Given the description of an element on the screen output the (x, y) to click on. 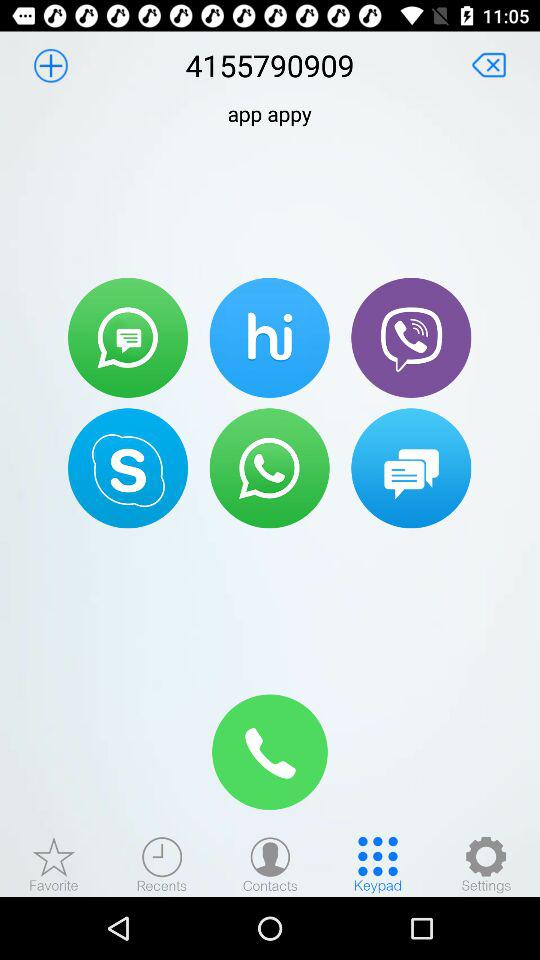
chat with number (411, 468)
